Given the description of an element on the screen output the (x, y) to click on. 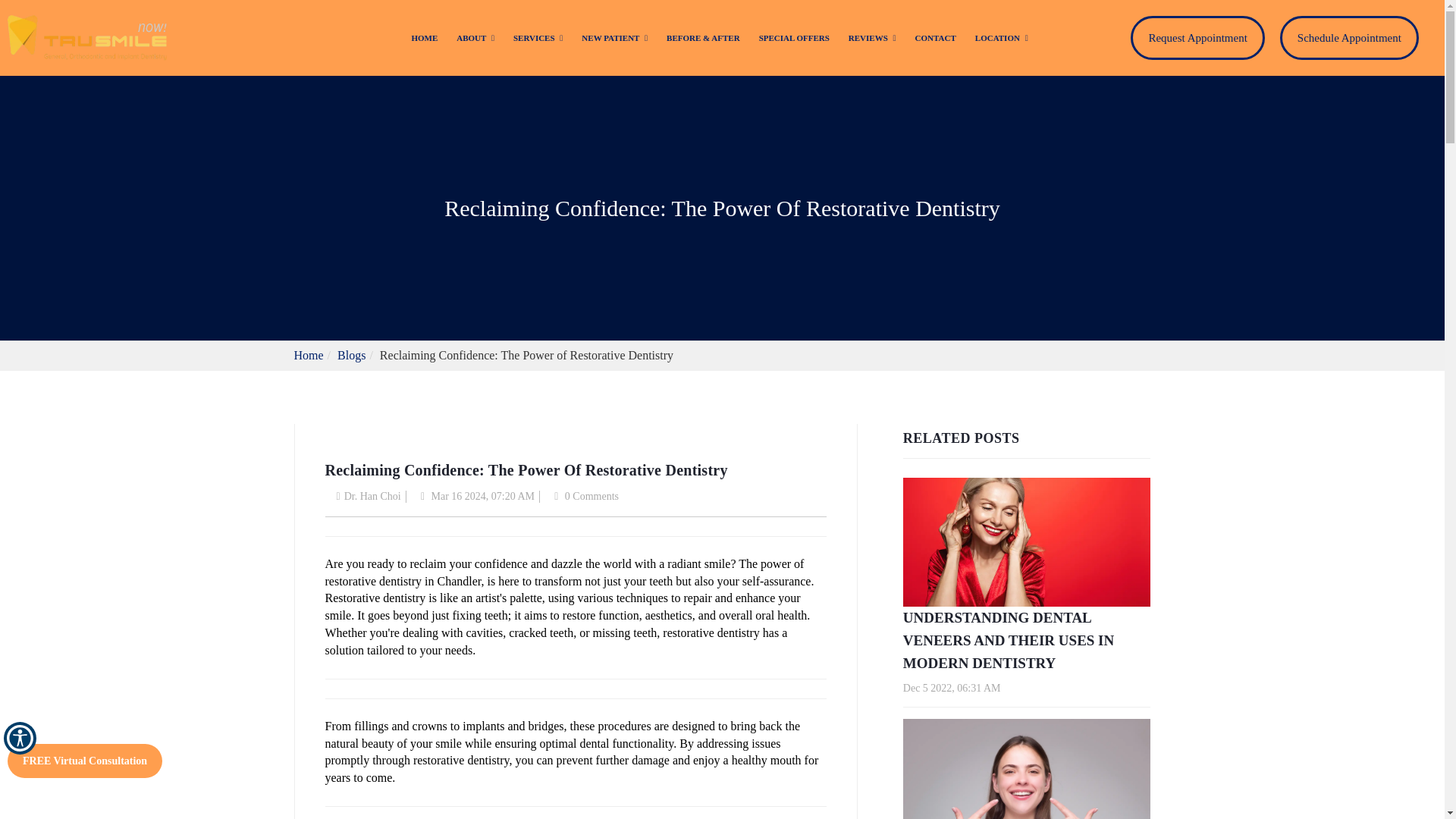
logo (87, 37)
Book an Appointment (1348, 37)
HOME (424, 38)
ABOUT (476, 38)
NEW PATIENT (613, 38)
LOCATION (1001, 38)
REVIEWS (872, 38)
SPECIAL OFFERS (793, 38)
SERVICES (537, 38)
Click HERE (870, 10)
CONTACT (935, 38)
Make an Appointment (1197, 37)
Book an Appointment (1348, 38)
Make an Appointment (1197, 38)
